Given the description of an element on the screen output the (x, y) to click on. 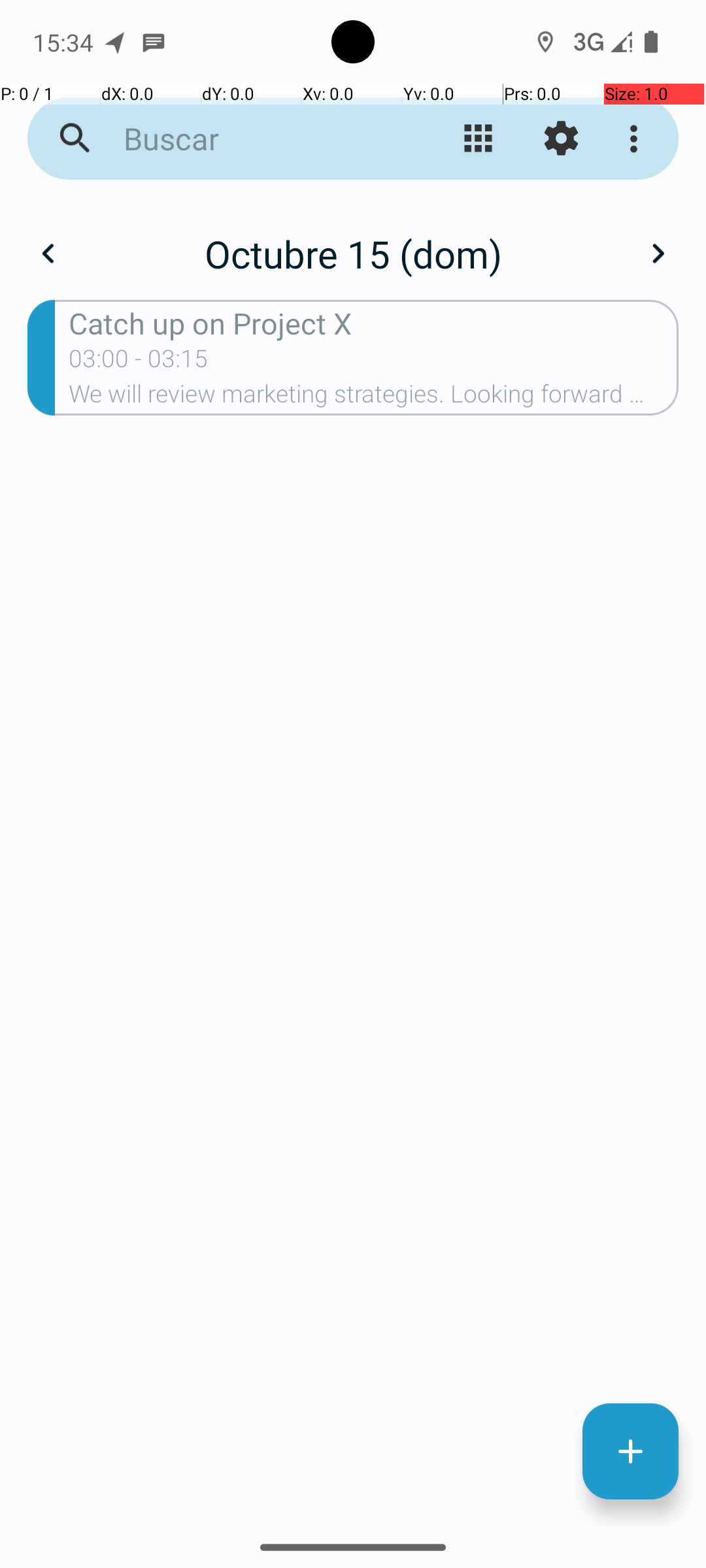
Buscar Element type: android.widget.EditText (252, 138)
Cambiar vista Element type: android.widget.Button (477, 138)
Ajustes Element type: android.widget.Button (560, 138)
Más opciones Element type: android.widget.ImageView (636, 138)
Nuevo evento Element type: android.widget.ImageButton (630, 1451)
Octubre 15 (dom) Element type: android.widget.TextView (352, 253)
Catch up on Project X Element type: android.widget.TextView (373, 321)
03:00 - 03:15 Element type: android.widget.TextView (137, 362)
We will review marketing strategies. Looking forward to productive discussions. Element type: android.widget.TextView (373, 397)
